Given the description of an element on the screen output the (x, y) to click on. 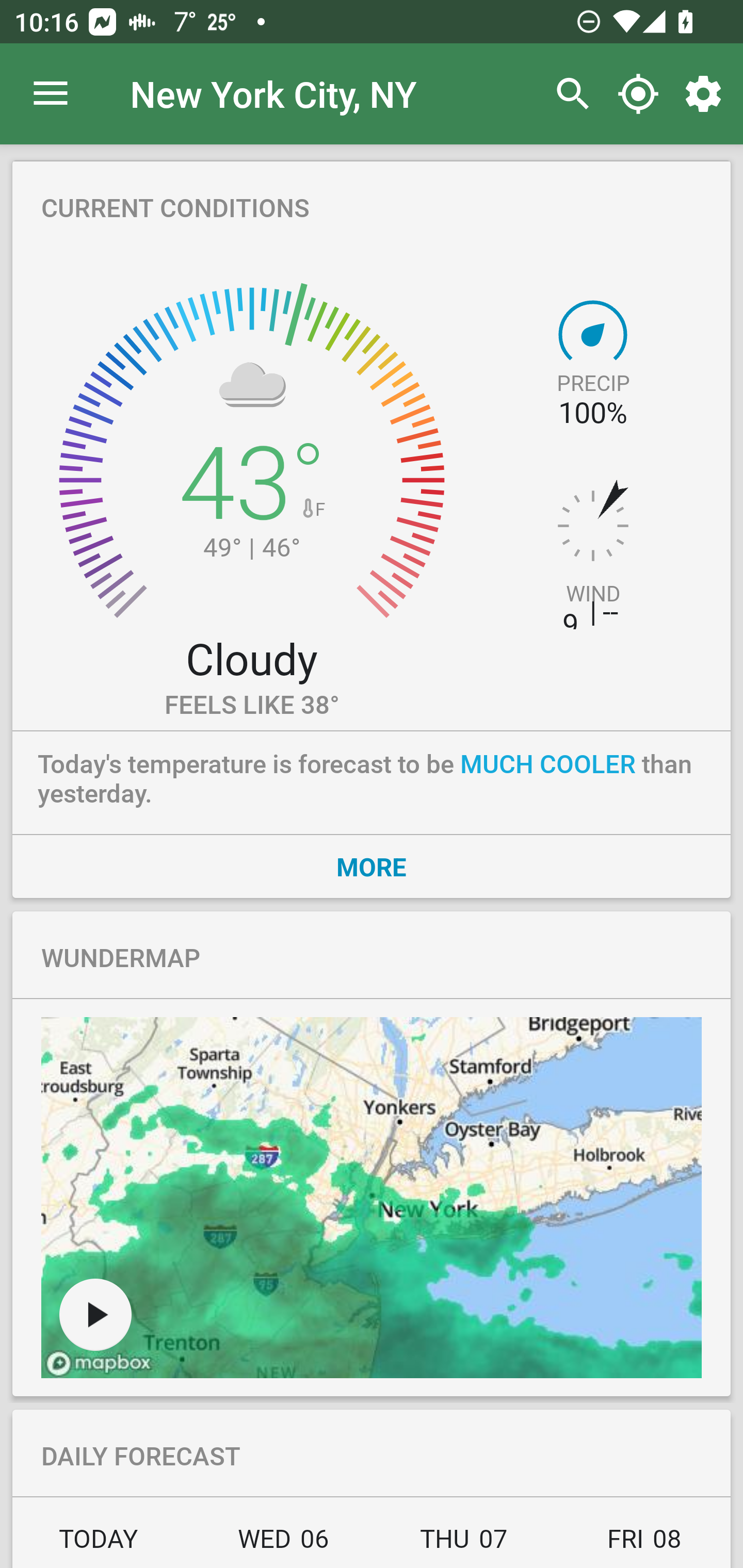
Press to open location manager. (50, 93)
Search for location (567, 94)
Select GPS location (637, 94)
Settings (706, 94)
New York City, NY (273, 92)
100% (592, 412)
Cloudy (251, 657)
MORE (371, 865)
Weather Map (371, 1197)
Weather Map (95, 1314)
TODAY (102, 1544)
WED 06 (283, 1544)
THU 07 (463, 1544)
FRI 08 (642, 1544)
